Given the description of an element on the screen output the (x, y) to click on. 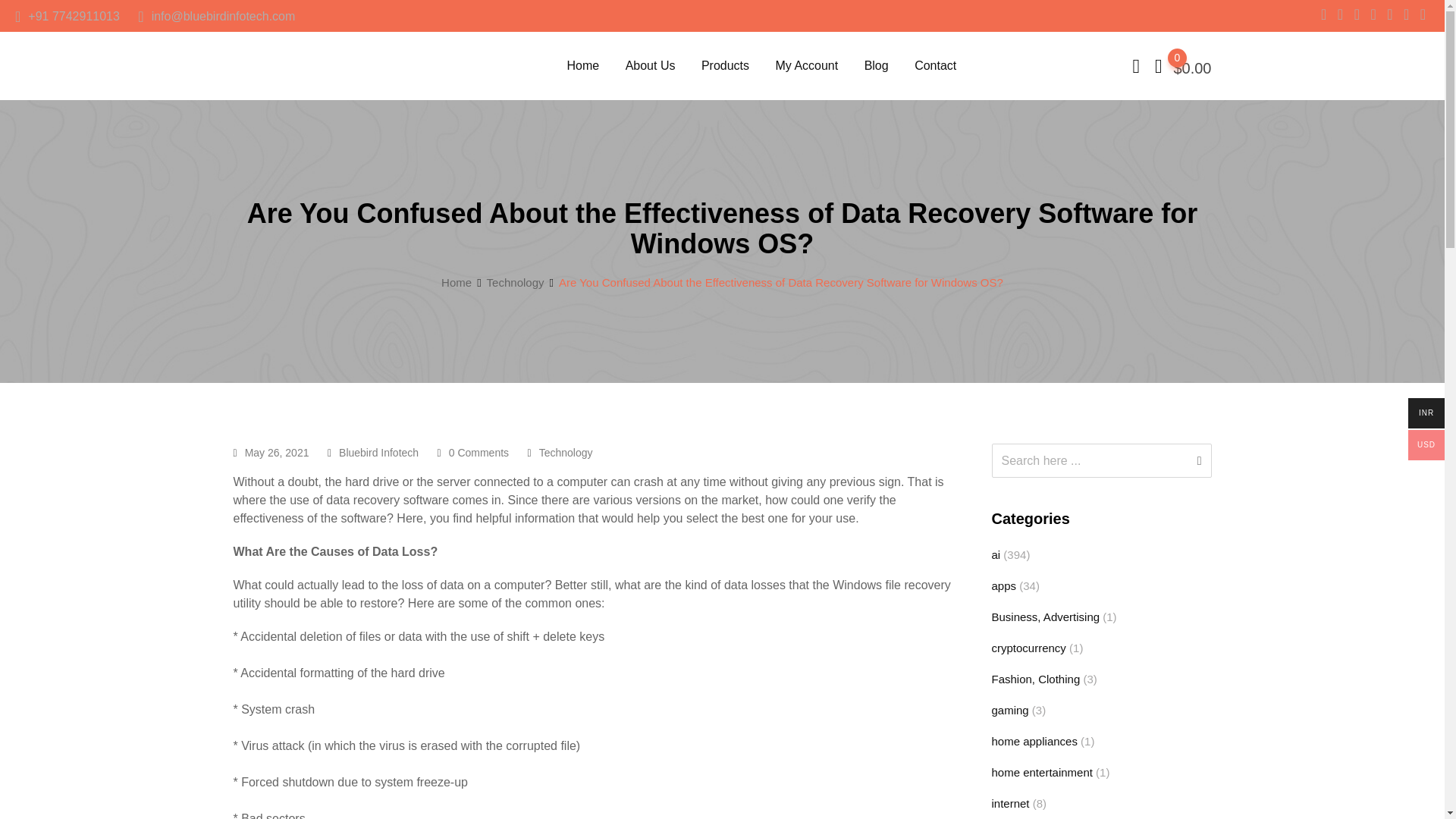
Bluebird Infotech (379, 452)
My Account (805, 65)
Technology (565, 452)
Products (725, 65)
Home (456, 282)
About Us (650, 65)
Technology (515, 282)
Search (1089, 460)
Contact (935, 65)
